Given the description of an element on the screen output the (x, y) to click on. 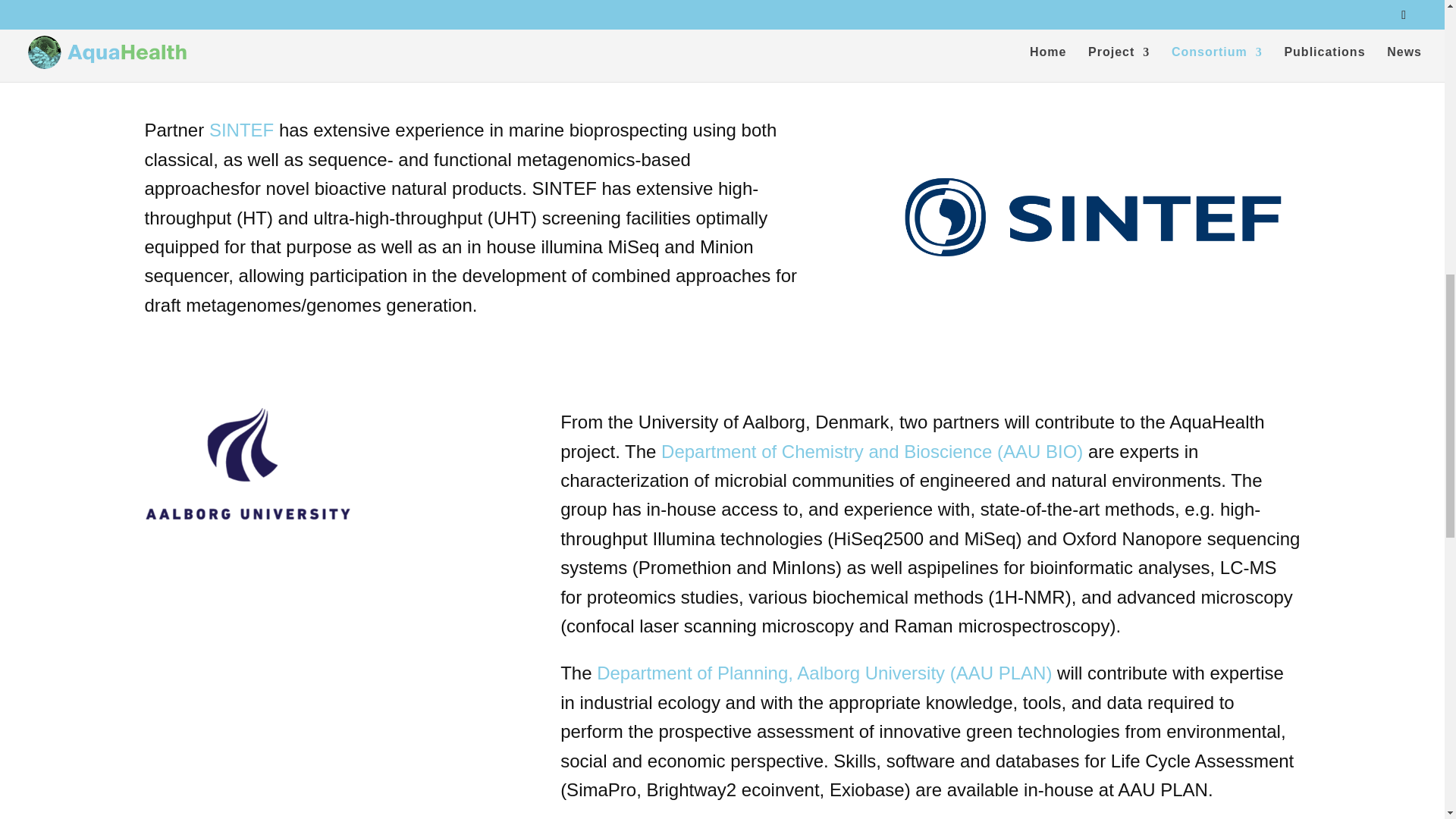
SINTEF (241, 129)
